Given the description of an element on the screen output the (x, y) to click on. 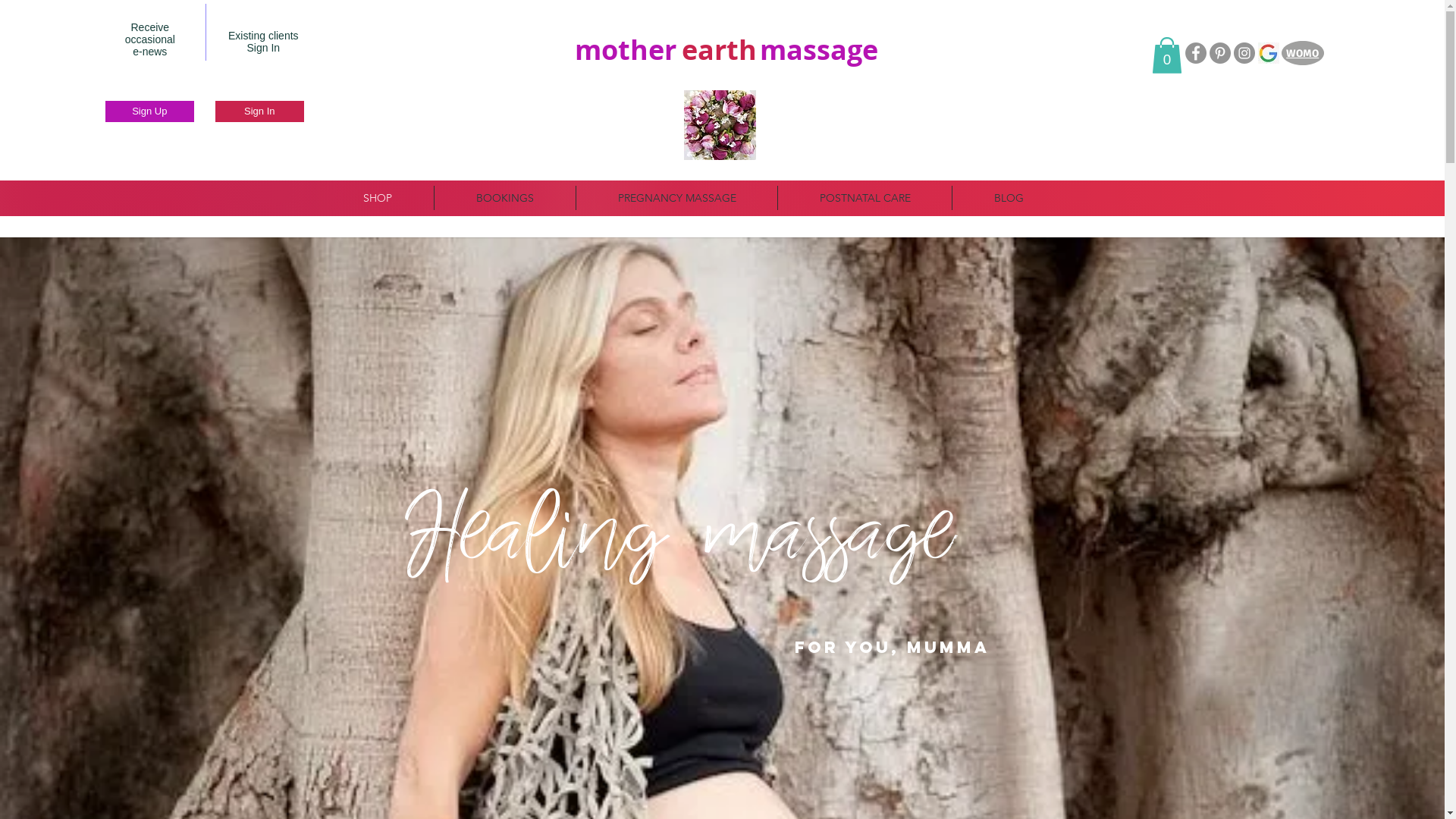
SHOP Element type: text (377, 197)
WOMO Element type: text (1302, 53)
BLOG Element type: text (1008, 197)
0 Element type: text (1166, 55)
FOR YOU, MumMA Element type: text (891, 647)
ther Element type: text (647, 48)
Sign In Element type: text (259, 111)
Sign Up Element type: text (149, 111)
Healing massage Element type: text (677, 543)
PREGNANCY MASSAGE Element type: text (676, 197)
earth Element type: text (718, 48)
massage Element type: text (818, 48)
mo Element type: text (596, 48)
